Given the description of an element on the screen output the (x, y) to click on. 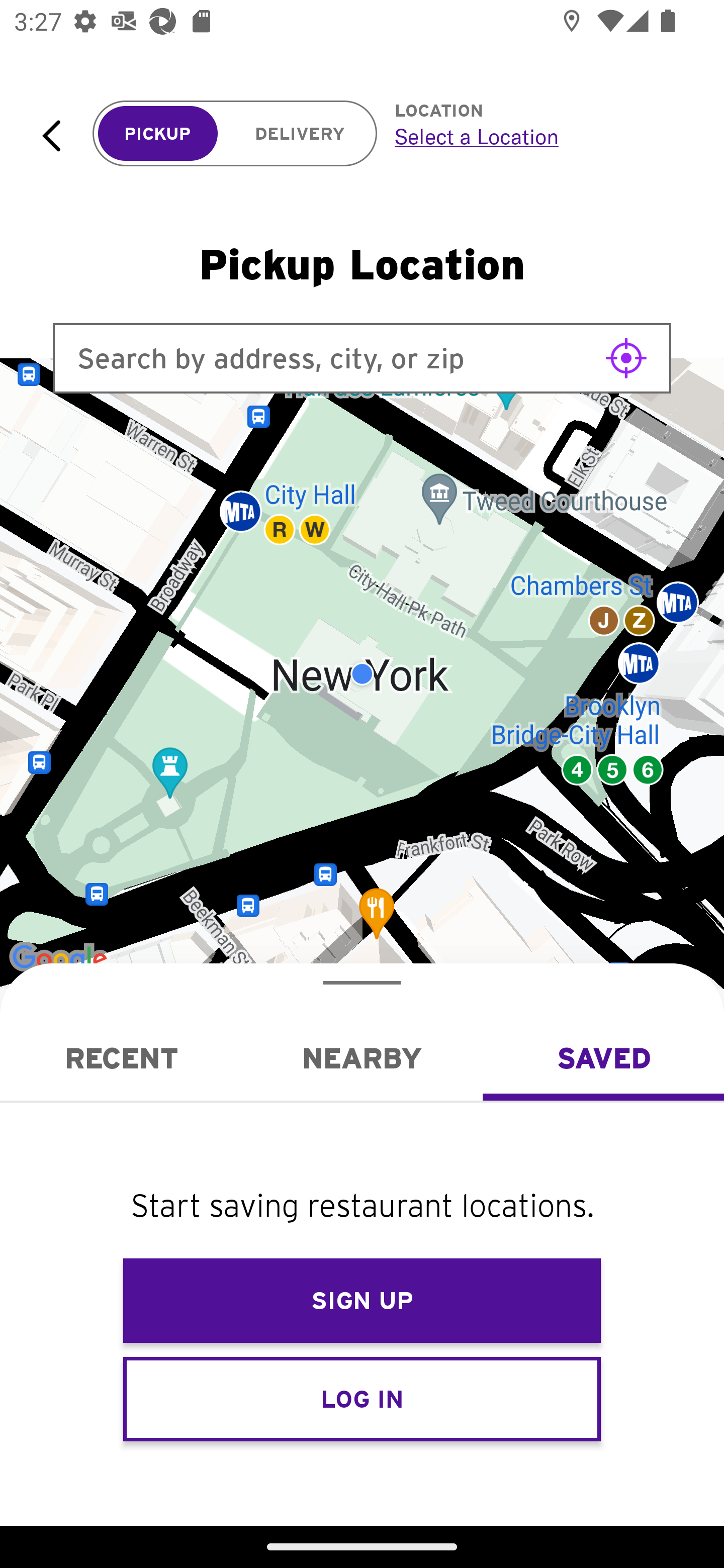
PICKUP (157, 133)
DELIVERY (299, 133)
Select a Location (536, 136)
Search by address, city, or zip (361, 358)
Google Map (362, 674)
Recent RECENT (120, 1058)
Nearby NEARBY (361, 1058)
SIGN UP (361, 1300)
LOG IN (361, 1398)
